Given the description of an element on the screen output the (x, y) to click on. 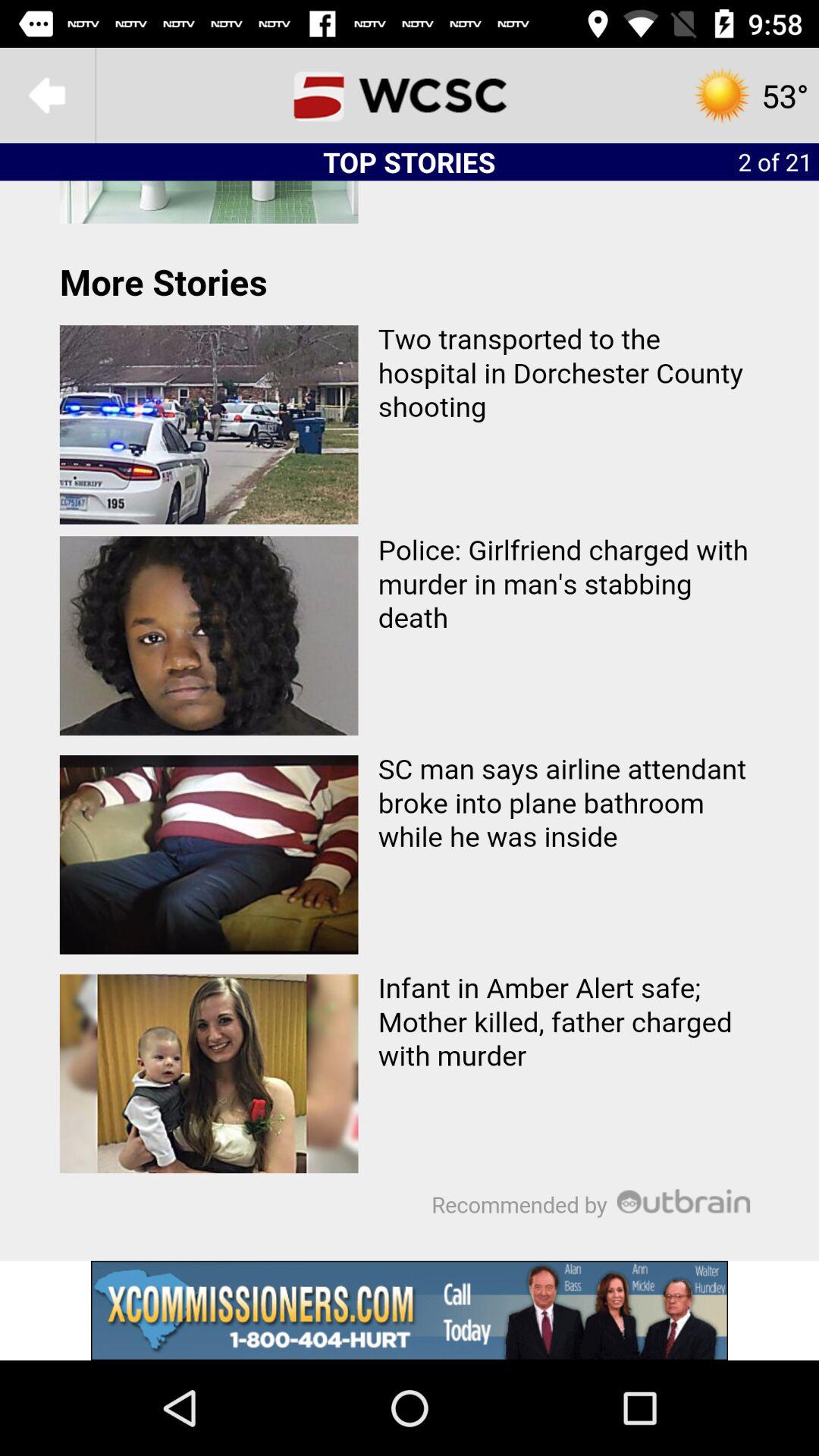
go to advertisement (409, 1310)
